Given the description of an element on the screen output the (x, y) to click on. 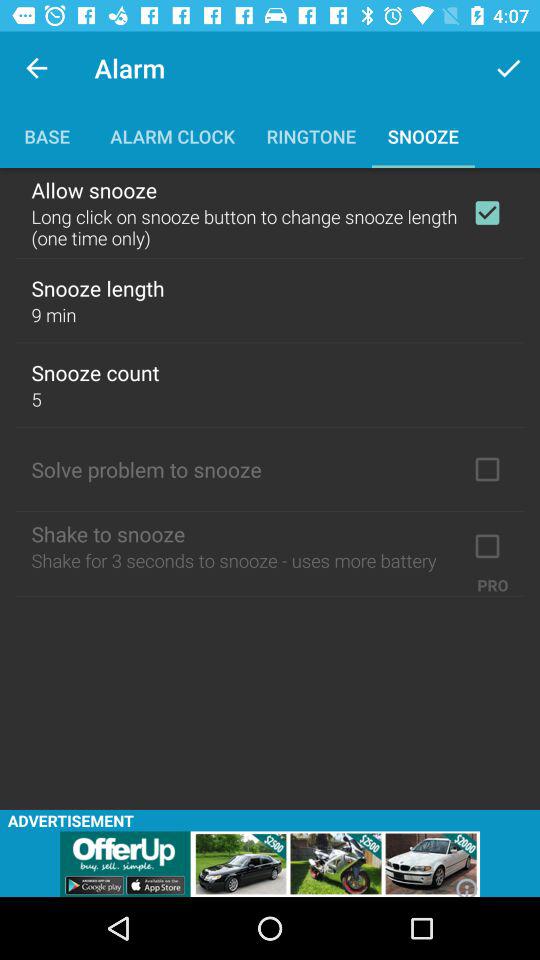
toggle on or off (487, 213)
